Given the description of an element on the screen output the (x, y) to click on. 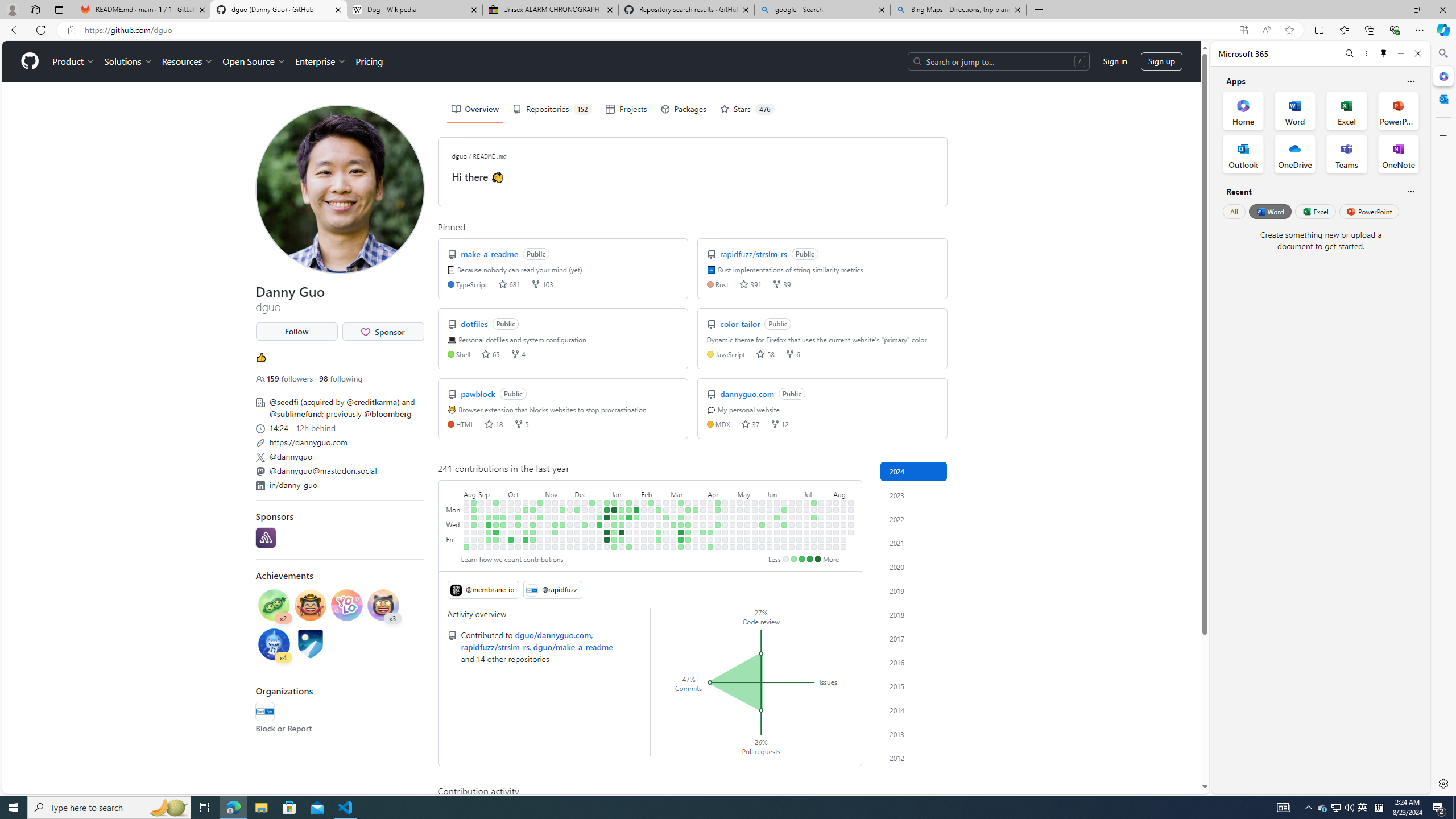
No contributions on May 5th. (740, 502)
No contributions on October 7th. (510, 546)
2022 (913, 519)
2 contributions on September 19th. (496, 517)
No contributions on November 23rd. (562, 531)
No contributions on July 15th. (813, 509)
@getsentry (264, 537)
2 contributions on October 26th. (532, 531)
No contributions on November 29th. (569, 524)
5 contributions on October 20th. (525, 539)
1 contribution on December 17th. (592, 502)
@creditkarma (371, 401)
No contributions on September 18th. (496, 509)
No contributions on July 2nd. (799, 517)
